Given the description of an element on the screen output the (x, y) to click on. 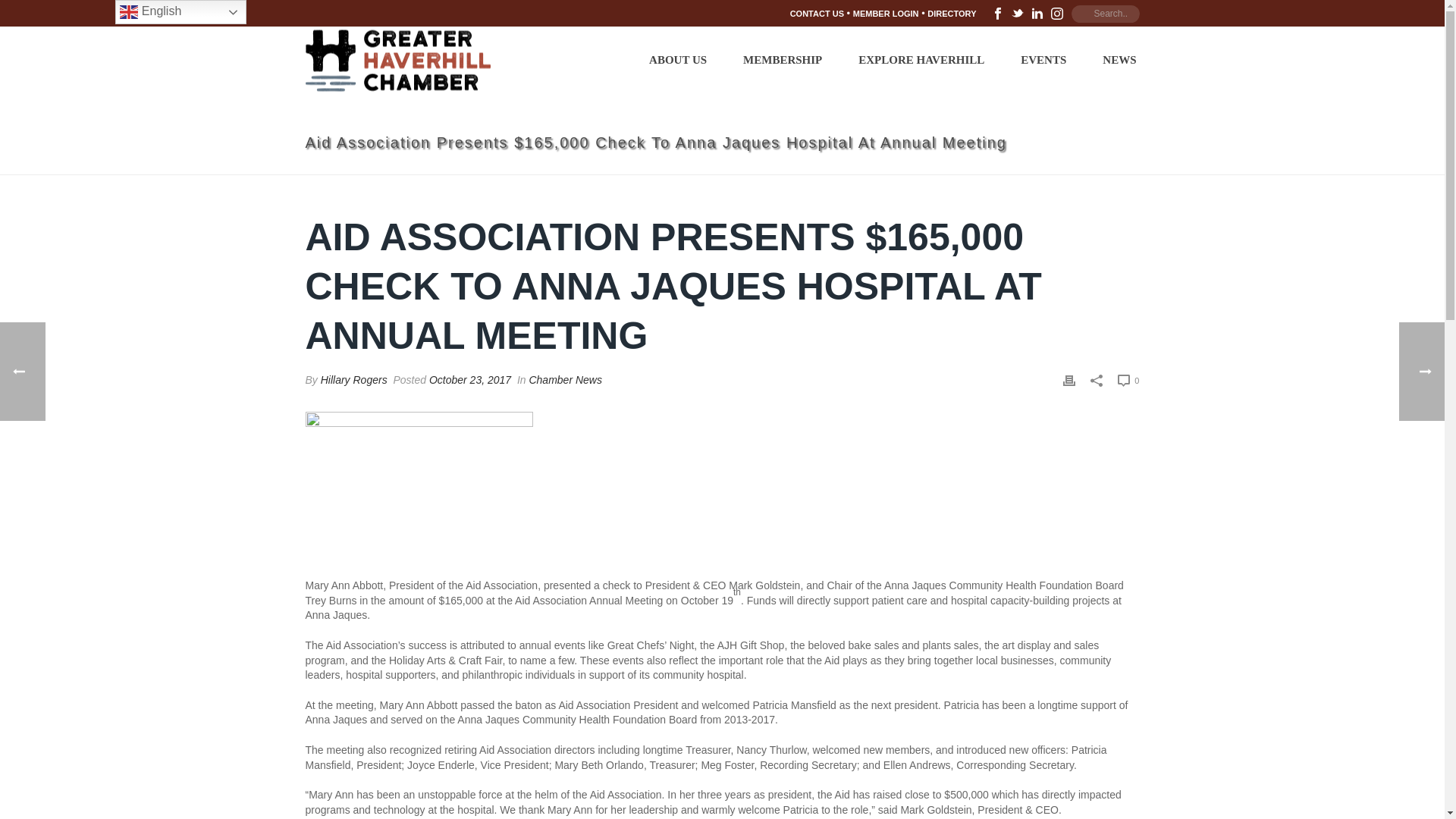
MEMBERSHIP (782, 58)
NEWS (1119, 58)
Posts by Hillary Rogers (353, 379)
NEWS (1119, 58)
DIRECTORY (951, 13)
EVENTS (1043, 58)
EXPLORE HAVERHILL (921, 58)
ABOUT US (677, 58)
MEMBER LOGIN (885, 13)
EVENTS (1043, 58)
MEMBERSHIP (782, 58)
CONTACT US (817, 13)
ABOUT US (677, 58)
EXPLORE HAVERHILL (921, 58)
